Given the description of an element on the screen output the (x, y) to click on. 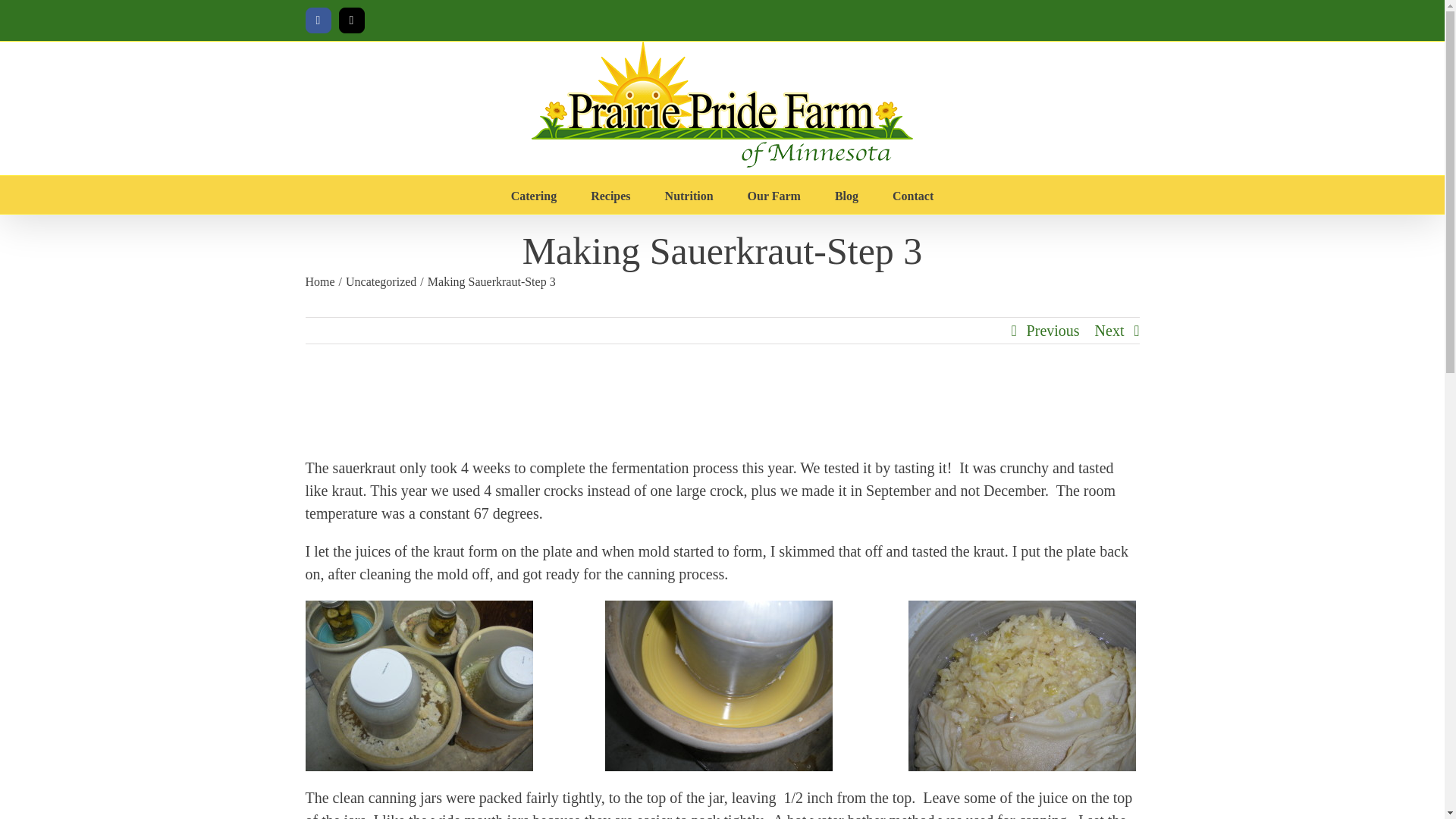
Facebook (317, 20)
Uncategorized (381, 281)
X (350, 20)
X (350, 20)
Previous (1053, 330)
Contact (912, 194)
Nutrition (689, 194)
Catering (533, 194)
Our Farm (774, 194)
Recipes (610, 194)
